Given the description of an element on the screen output the (x, y) to click on. 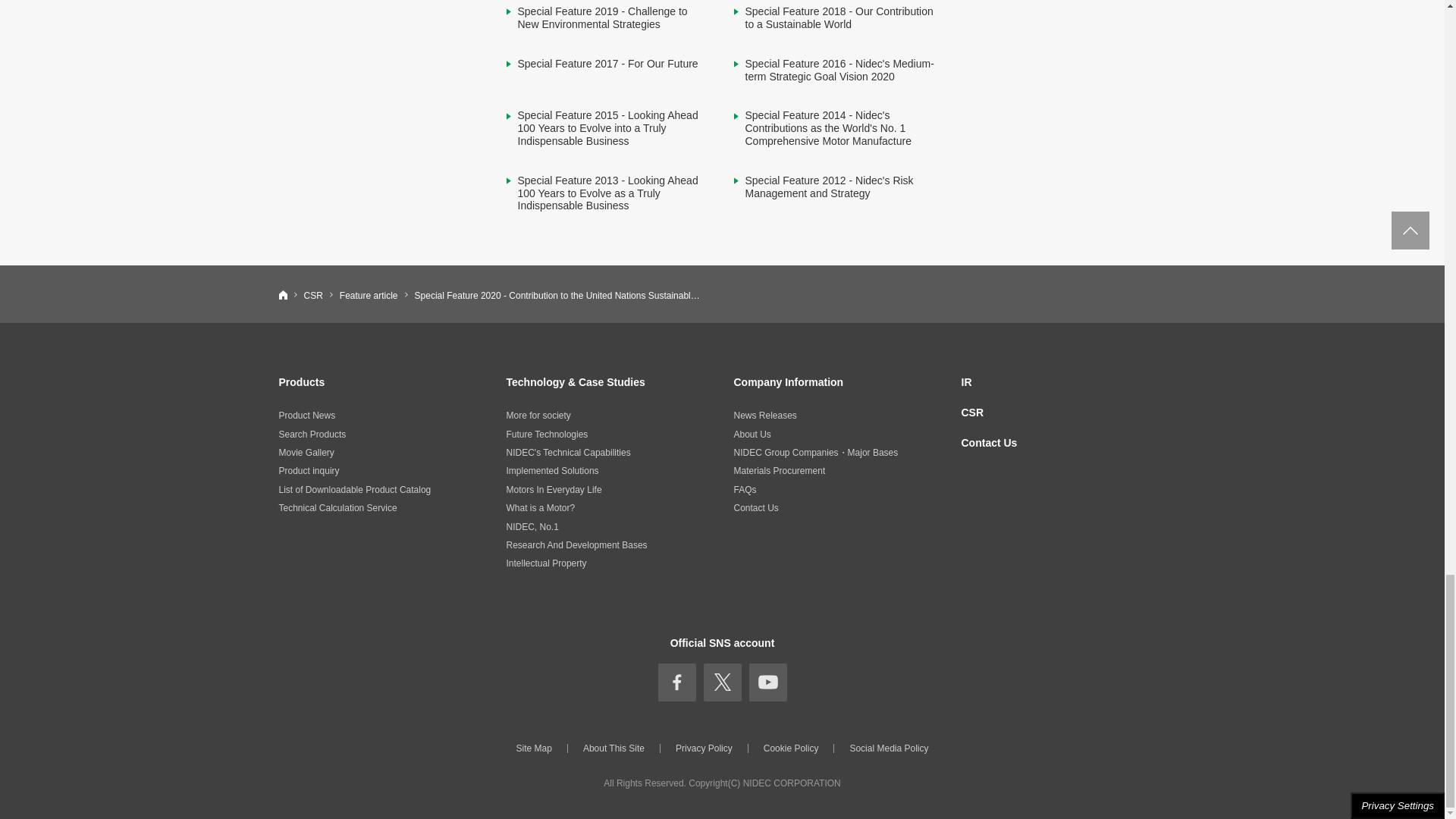
Feature article (368, 295)
Nidec Corporation (282, 294)
CSR (311, 295)
